Given the description of an element on the screen output the (x, y) to click on. 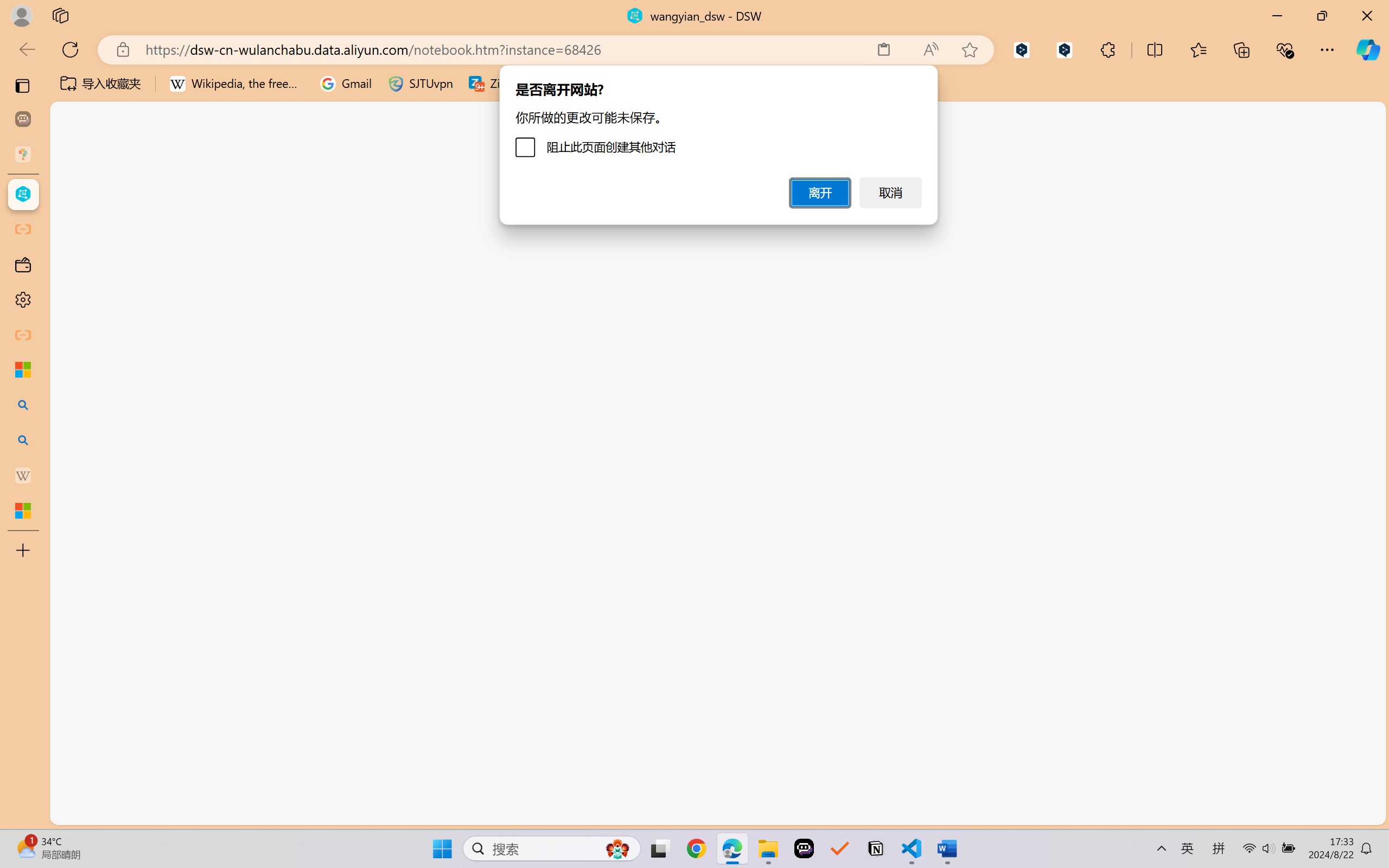
Output (Ctrl+Shift+U) (377, 194)
Microsoft security help and learning (22, 369)
Application Menu (73, 194)
Outline Section (179, 769)
Forwarded Ports: 36301, 47065, 38781, 45817, 50331 (167, 812)
wangyian_dsw - DSW (22, 194)
copilot-notconnected, Copilot error (click for details) (955, 812)
Add Port (635, 355)
